Given the description of an element on the screen output the (x, y) to click on. 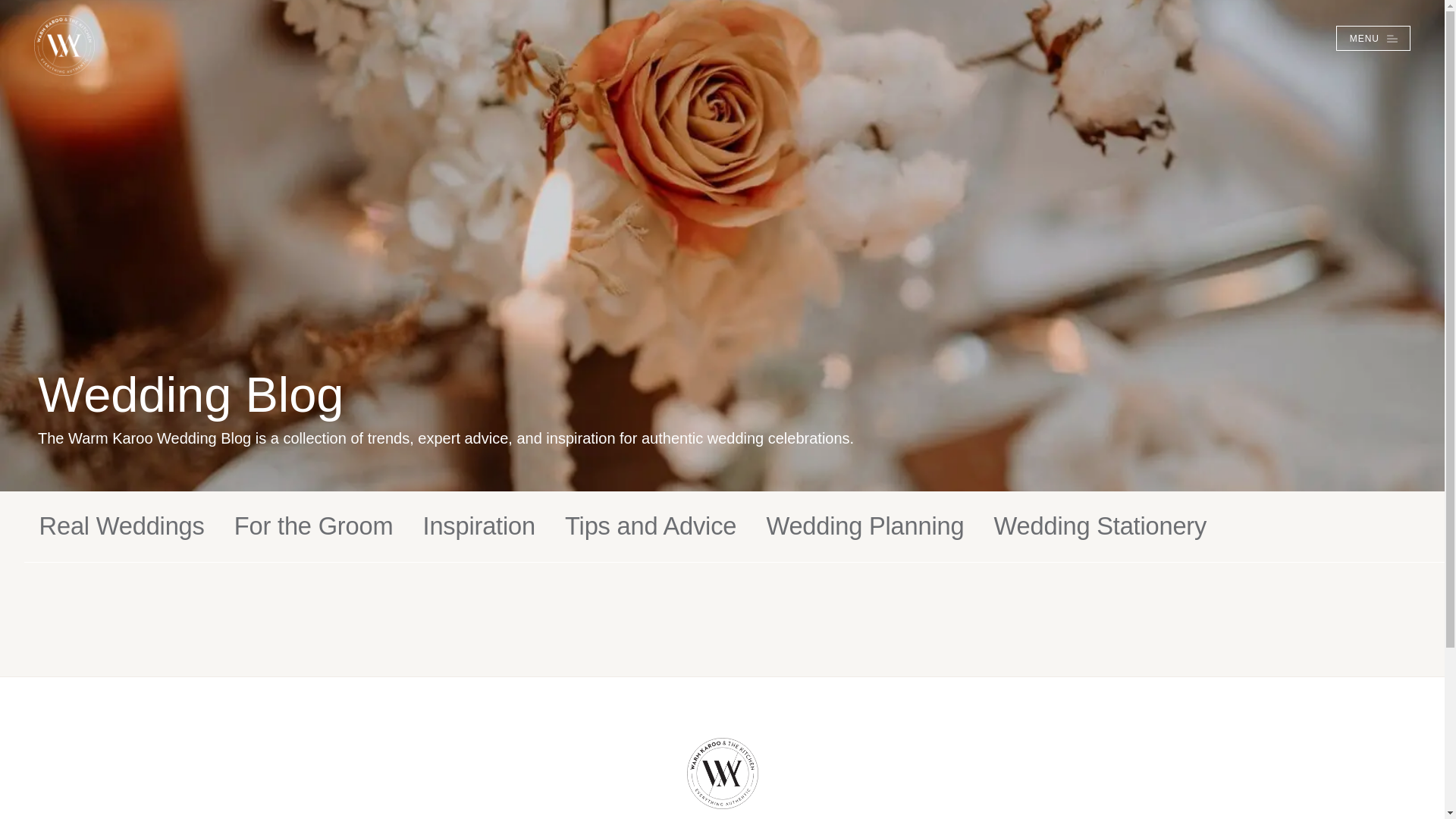
Tips and Advice (650, 526)
For the Groom (313, 526)
Inspiration (479, 526)
MENU (1373, 37)
Wedding Stationery (1100, 526)
Real Weddings (122, 526)
Wedding Planning (864, 526)
